Given the description of an element on the screen output the (x, y) to click on. 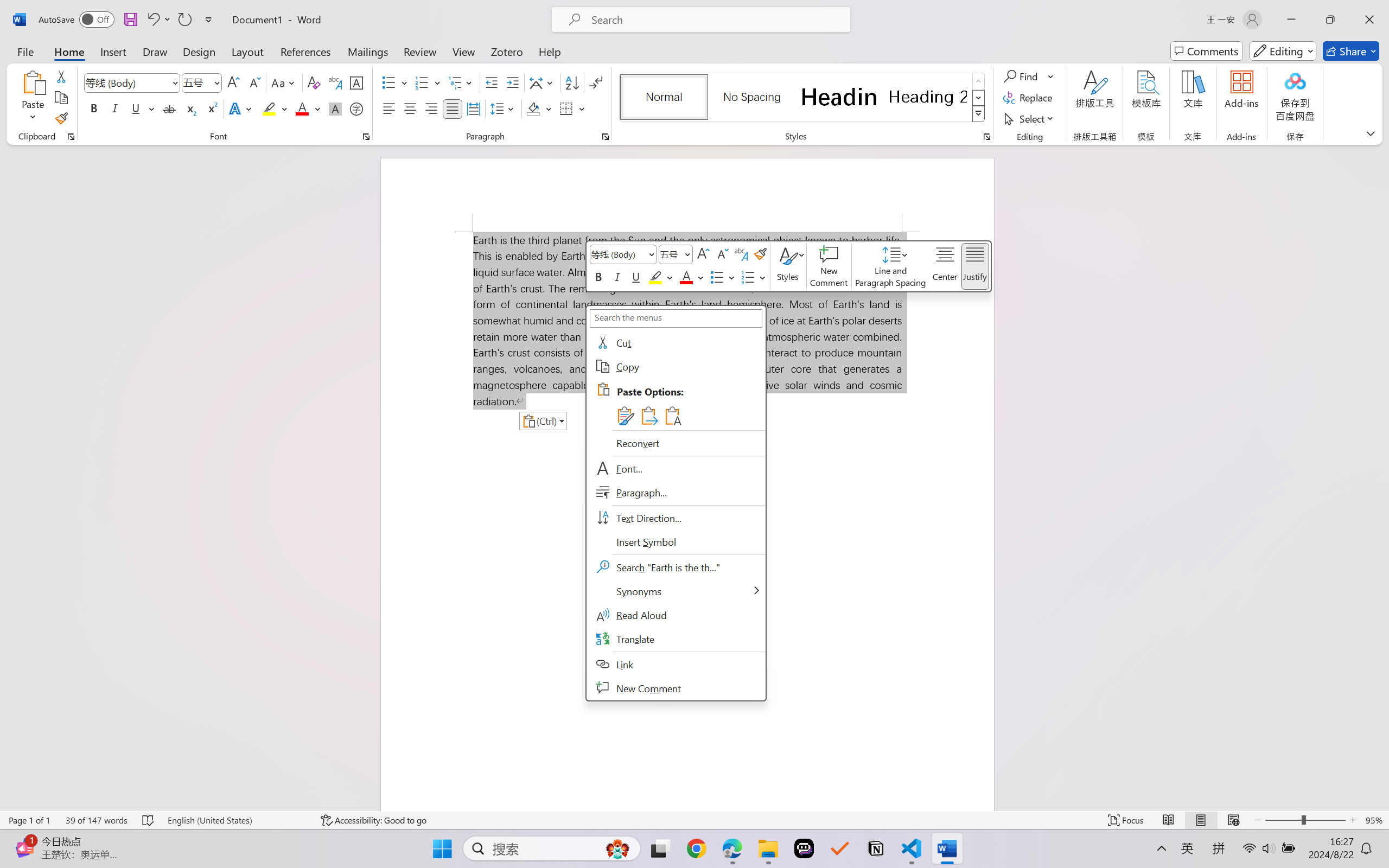
Poe (804, 848)
Shrink Font (253, 82)
Undo Paste Text Only (158, 19)
Reconvert (675, 442)
Action: Paste alternatives (542, 420)
AutomationID: QuickStylesGallery (802, 97)
Google Chrome (696, 848)
Superscript (210, 108)
